Given the description of an element on the screen output the (x, y) to click on. 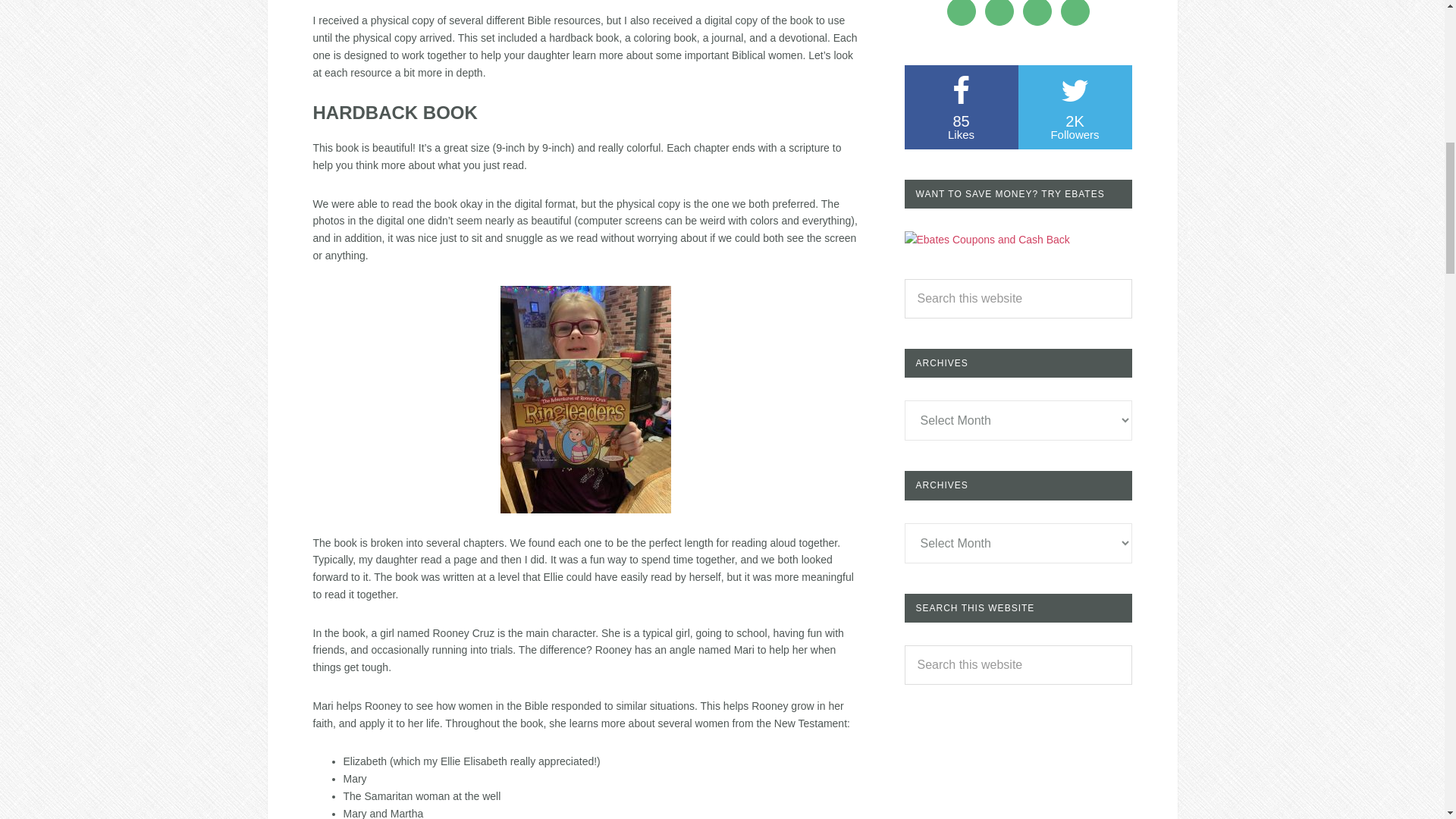
Search (960, 107)
Search (1074, 107)
